Given the description of an element on the screen output the (x, y) to click on. 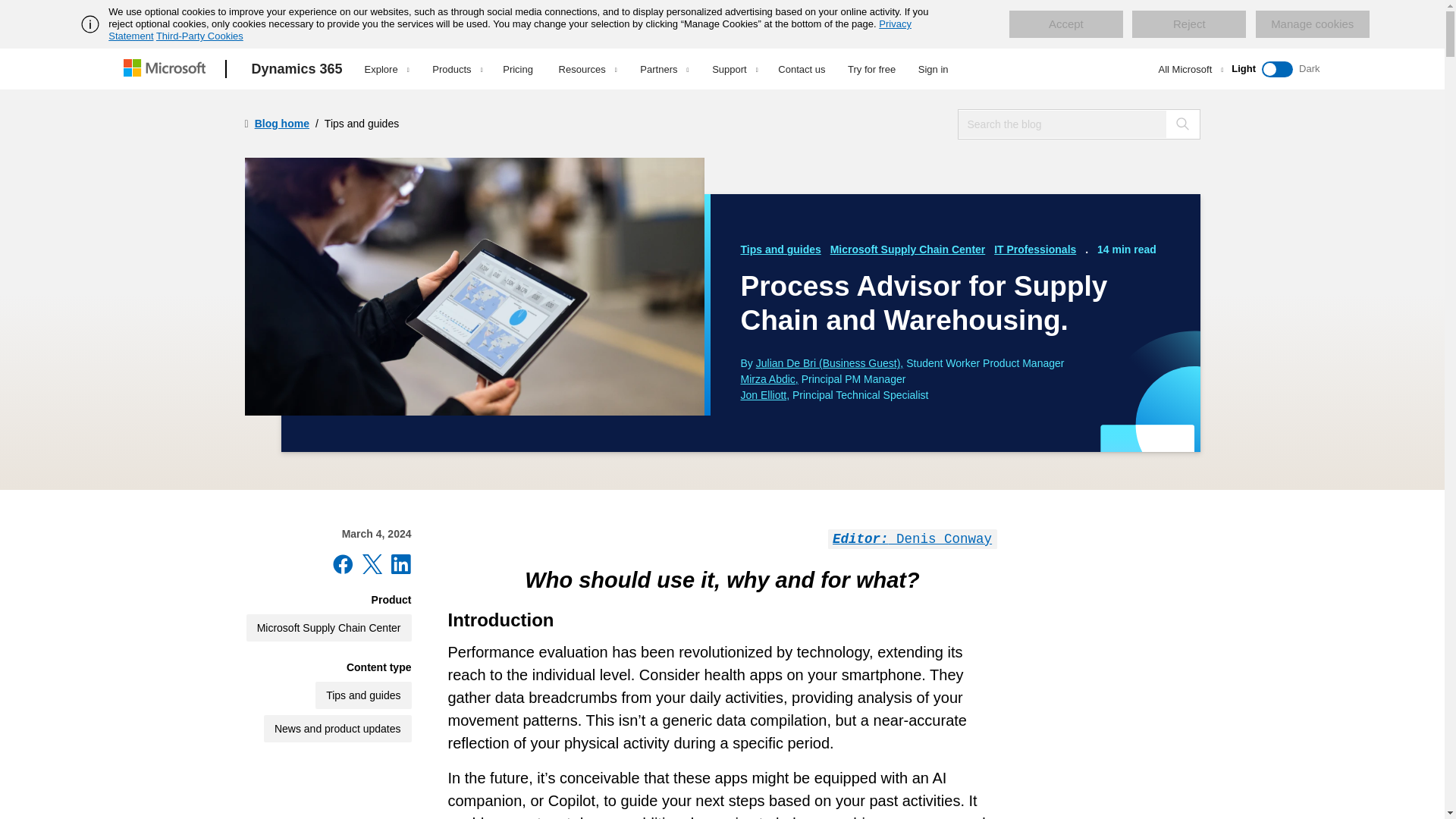
Products (457, 69)
Explore (387, 69)
Accept (1065, 23)
Dynamics 365 (297, 69)
Manage cookies (1312, 23)
Privacy Statement (509, 29)
Microsoft (167, 69)
Third-Party Cookies (199, 35)
Reject (1189, 23)
